Given the description of an element on the screen output the (x, y) to click on. 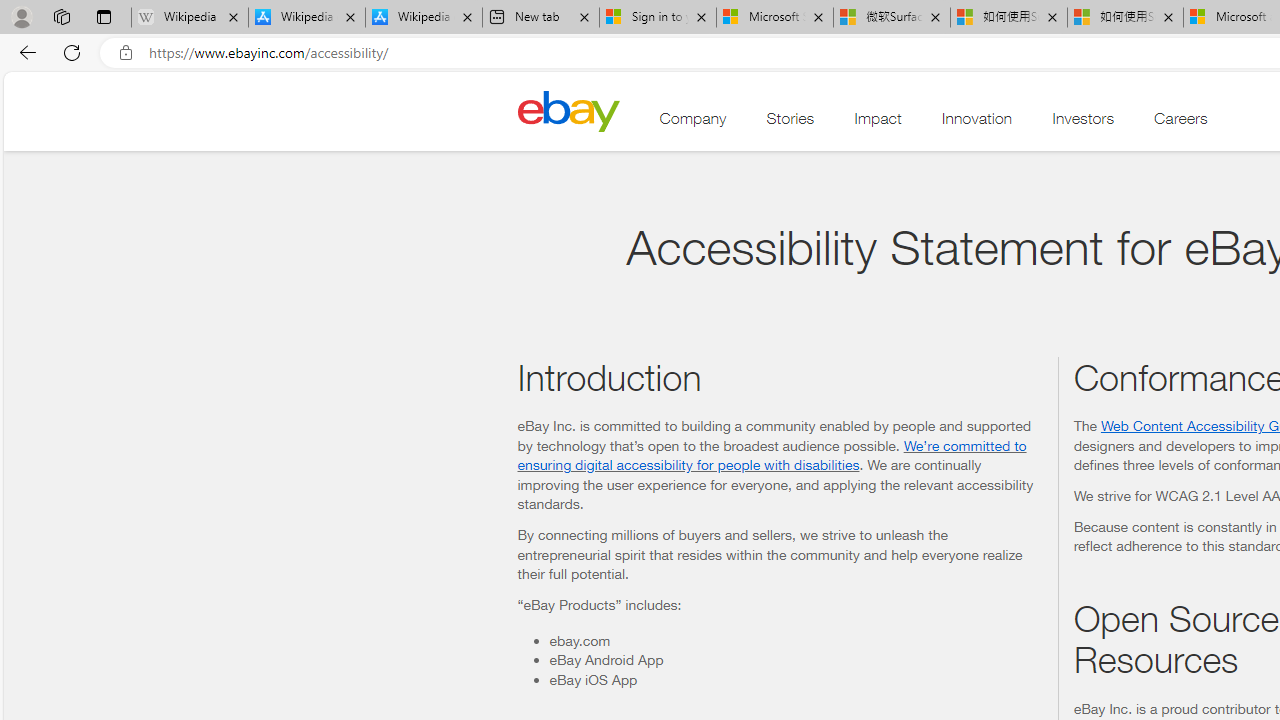
eBay Android App (795, 660)
ebay.com (795, 640)
Impact (877, 123)
Stories (790, 123)
Investors (1083, 123)
Company (693, 123)
Company (693, 123)
Home (568, 110)
eBay iOS App (795, 678)
